Given the description of an element on the screen output the (x, y) to click on. 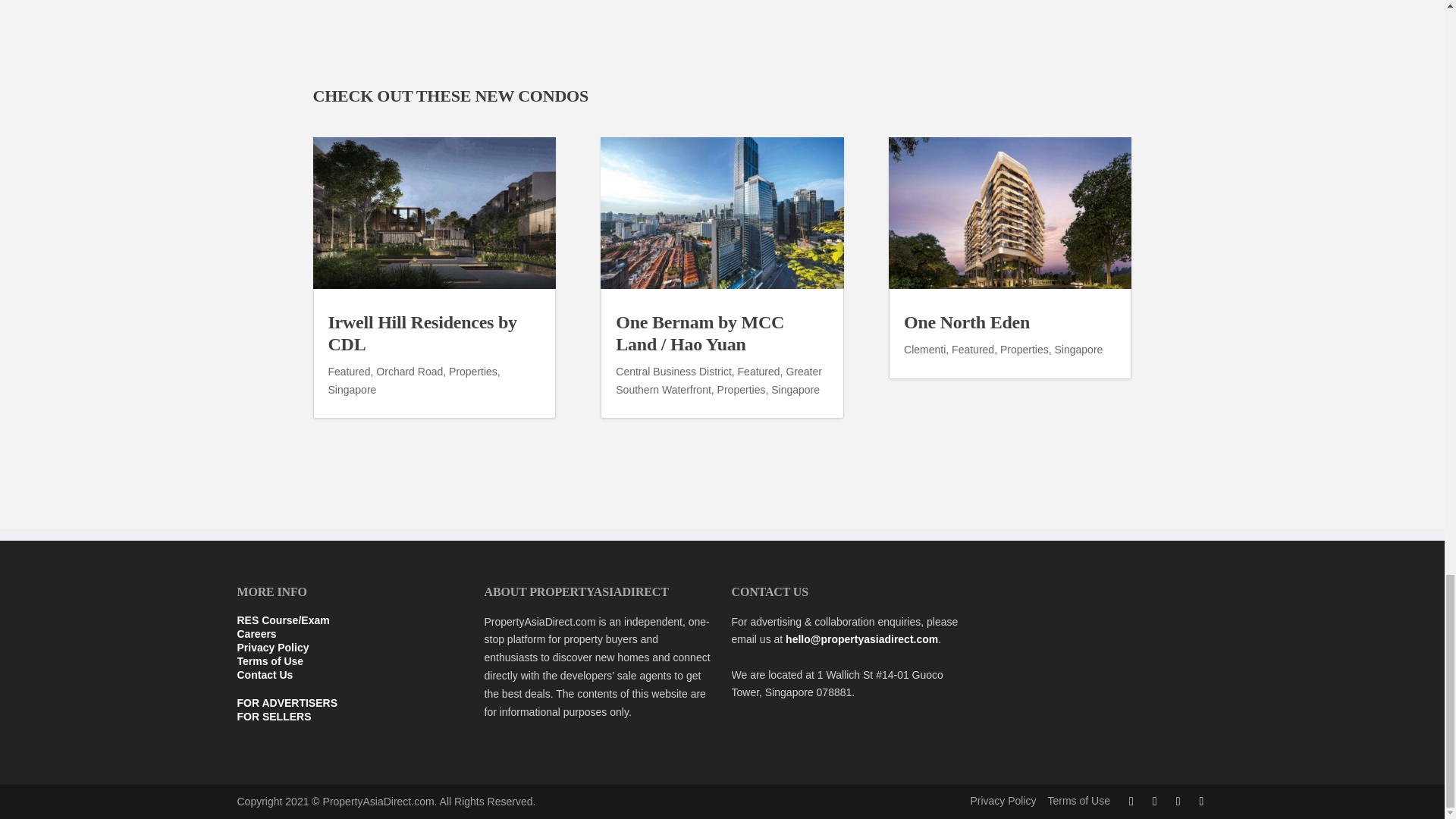
Irwell Hill Residences by CDL (421, 332)
Orchard Road (408, 371)
Featured (348, 371)
